Given the description of an element on the screen output the (x, y) to click on. 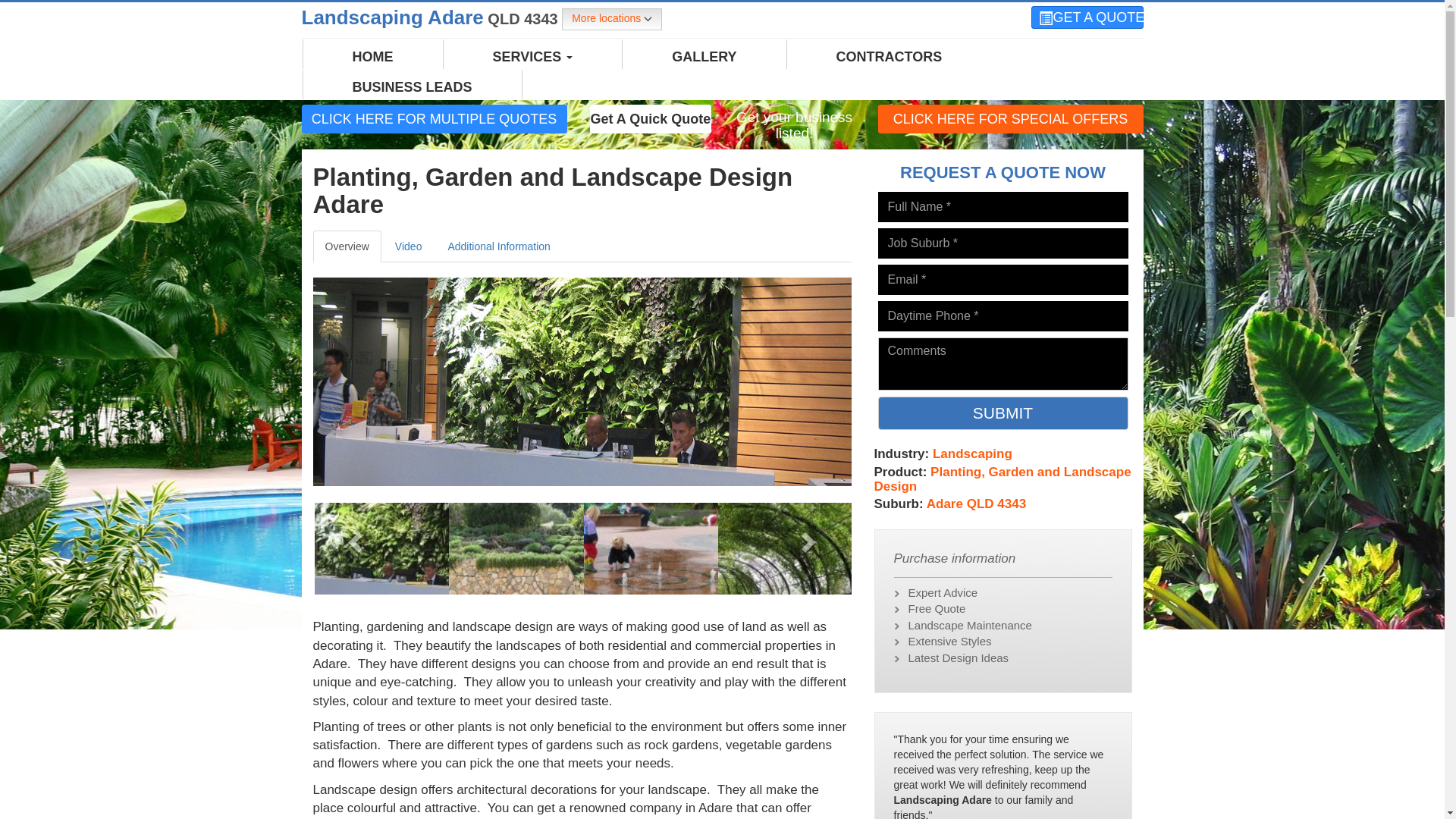
GET A QUOTE Element type: text (1087, 17)
Additional Information Element type: text (498, 246)
Landscaping Adare QLD 4343 Element type: text (431, 17)
GALLERY Element type: text (703, 56)
HOME Element type: text (372, 56)
CLICK HERE FOR SPECIAL OFFERS Element type: text (1010, 118)
Get A Quick Quote Element type: text (650, 118)
SUBMIT Element type: text (1003, 412)
More locations Element type: text (611, 19)
Get your business listed! Element type: text (793, 125)
Get A Quick Quote Element type: text (650, 118)
CLICK HERE FOR MULTIPLE QUOTES Element type: text (434, 118)
BUSINESS LEADS Element type: text (412, 87)
Video Element type: text (408, 246)
SERVICES Element type: text (531, 56)
prev Element type: hover (352, 537)
CLICK HERE FOR MULTIPLE QUOTES Element type: text (434, 118)
Overview Element type: text (346, 246)
CLICK HERE FOR SPECIAL OFFERS Element type: text (1010, 118)
CONTRACTORS Element type: text (889, 56)
